Given the description of an element on the screen output the (x, y) to click on. 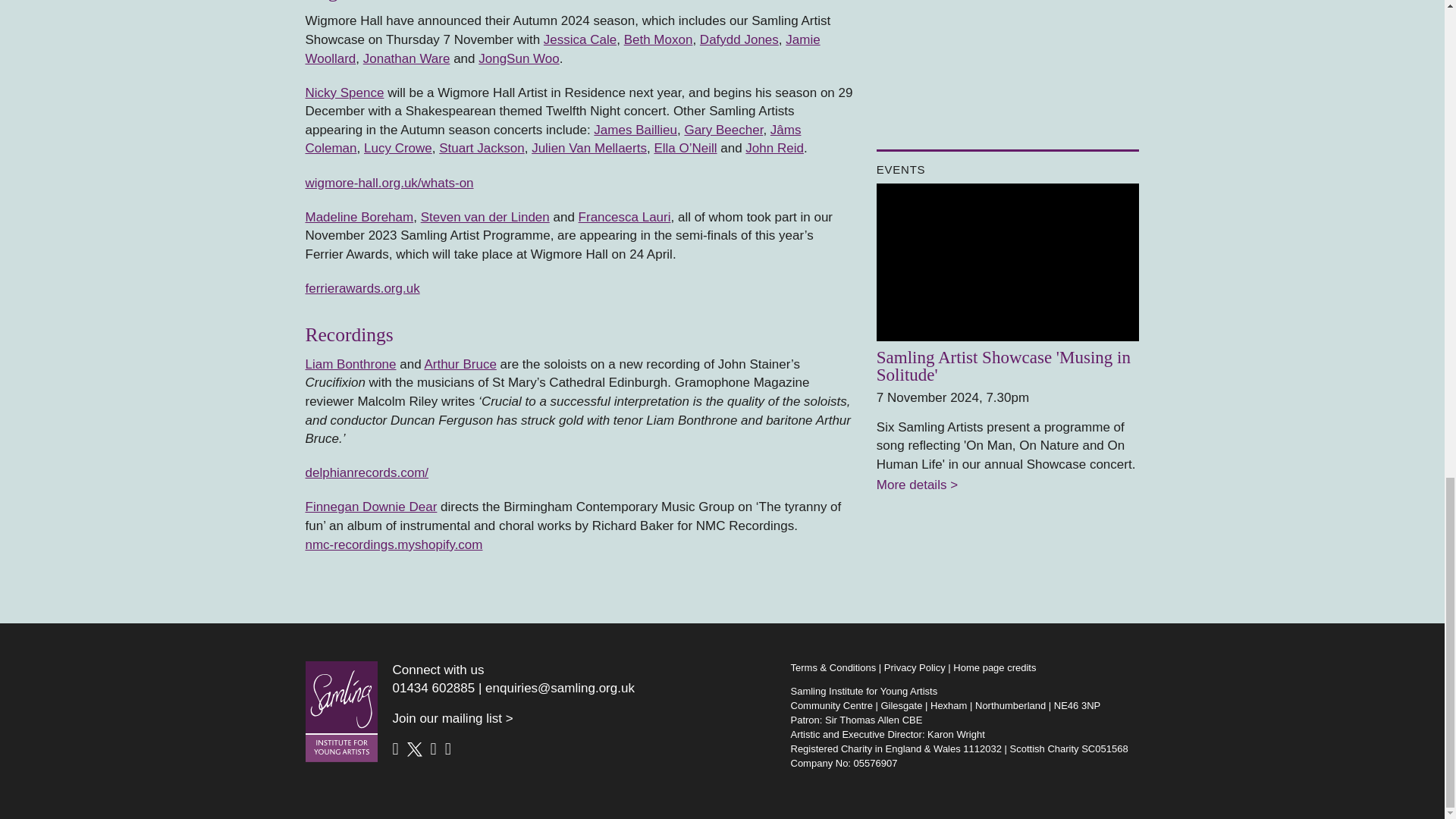
Dafydd Jones (739, 39)
Jessica Cale (579, 39)
Jamie Woollard (561, 49)
Beth Moxon (658, 39)
